Given the description of an element on the screen output the (x, y) to click on. 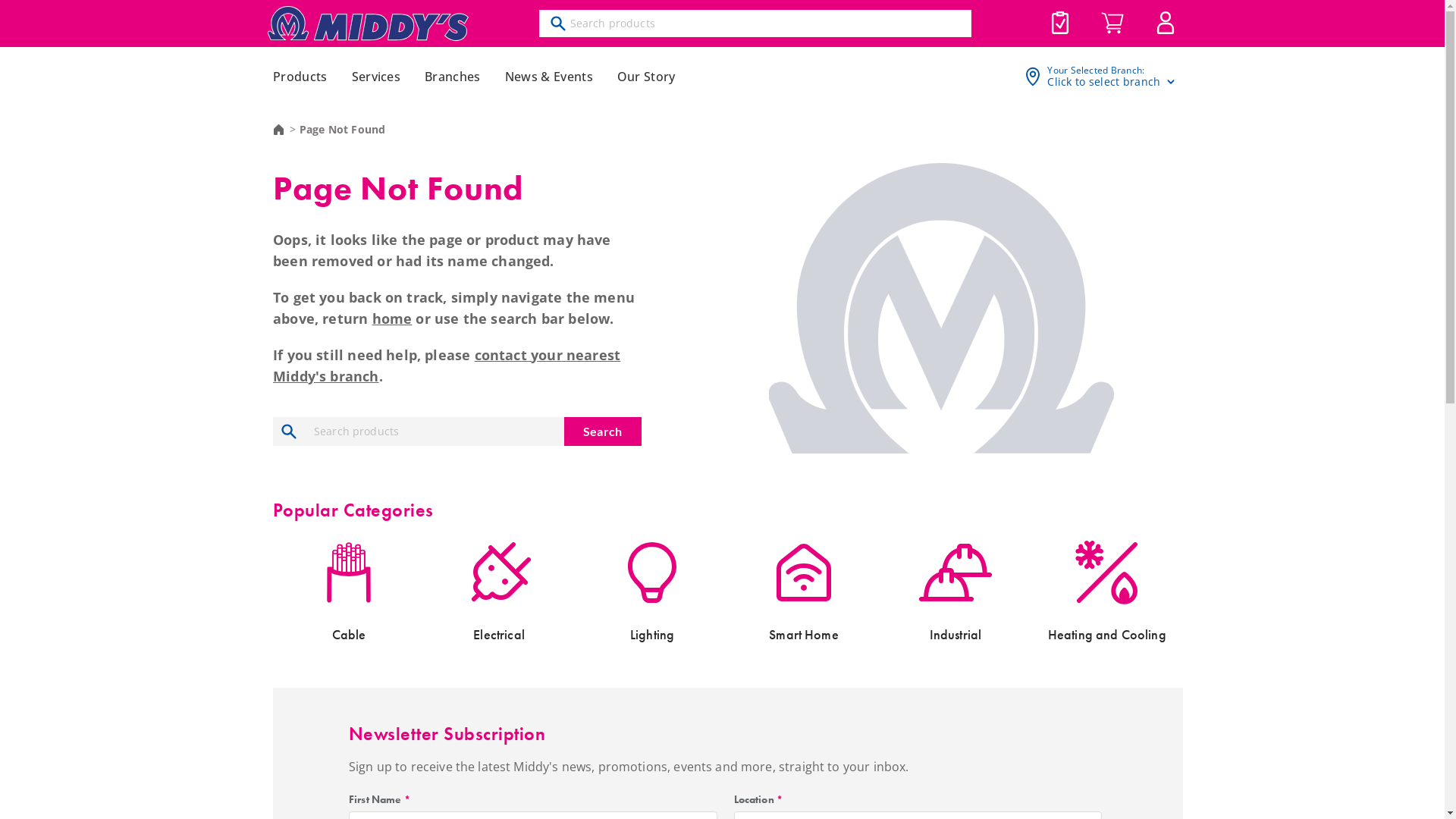
Products Element type: text (300, 76)
Heating and Cooling Element type: text (1107, 589)
Search Element type: text (602, 431)
Smart Home Element type: text (803, 589)
News & Events Element type: text (549, 76)
Services Element type: text (376, 76)
Our Story Element type: text (646, 76)
home Element type: text (392, 318)
Cable Element type: text (348, 589)
Cart Element type: text (1112, 23)
Bookmarks Element type: text (1060, 22)
User Element type: text (1164, 22)
Lighting Element type: text (652, 589)
contact your nearest Middy's branch Element type: text (446, 365)
Electrical  Element type: text (500, 589)
Industrial Element type: text (955, 589)
Click to select branch Element type: text (1111, 81)
Branches Element type: text (452, 76)
